Given the description of an element on the screen output the (x, y) to click on. 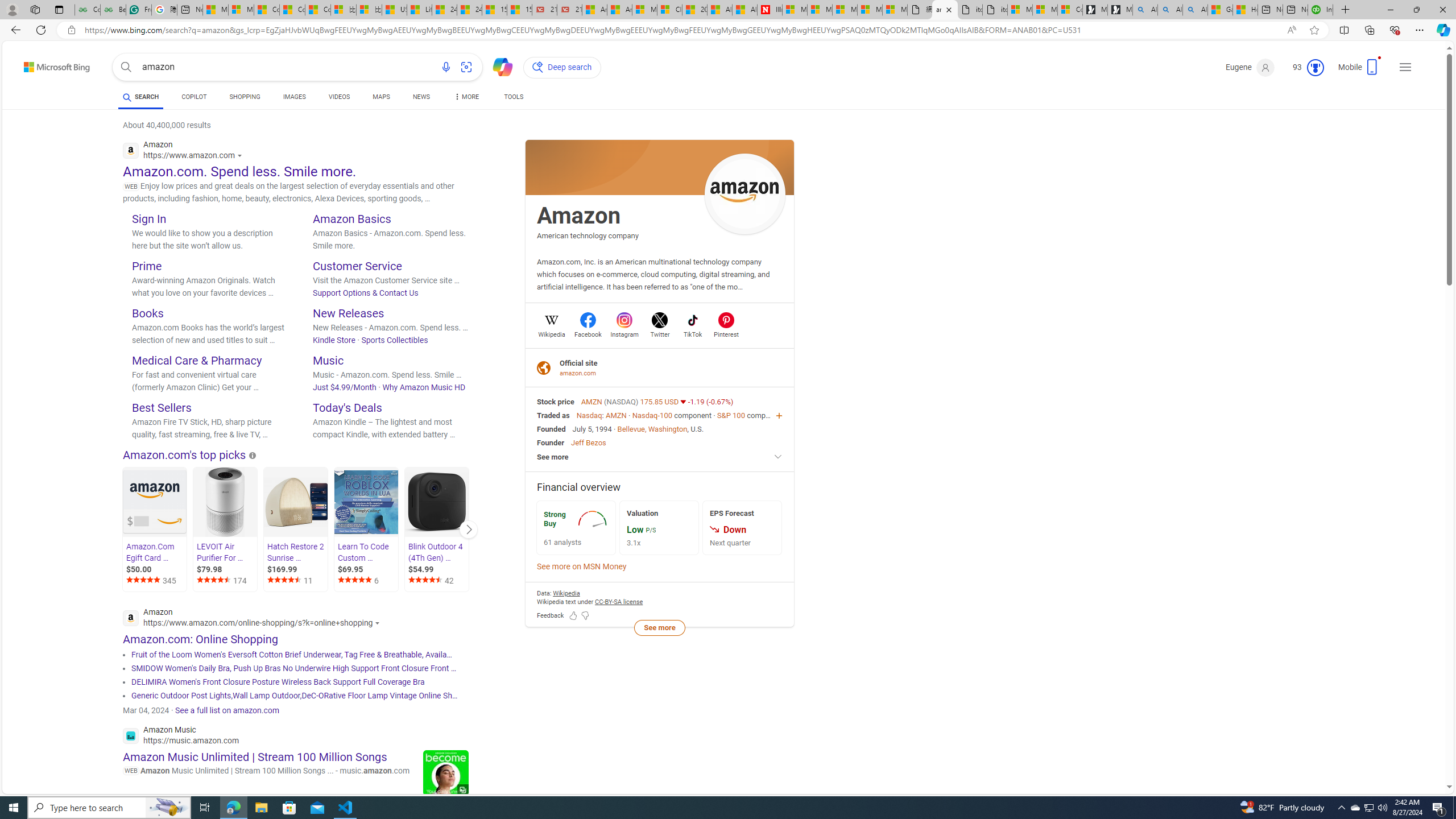
Kindle Store (334, 339)
Today's Deals (347, 407)
COPILOT (193, 98)
itconcepthk.com/projector_solutions.mp4 (993, 9)
SEARCH (140, 96)
TikTok (692, 333)
Pinterest (726, 333)
Class: rms_img (714, 528)
Illness news & latest pictures from Newsweek.com (769, 9)
Global web icon (130, 735)
345 (155, 580)
